Given the description of an element on the screen output the (x, y) to click on. 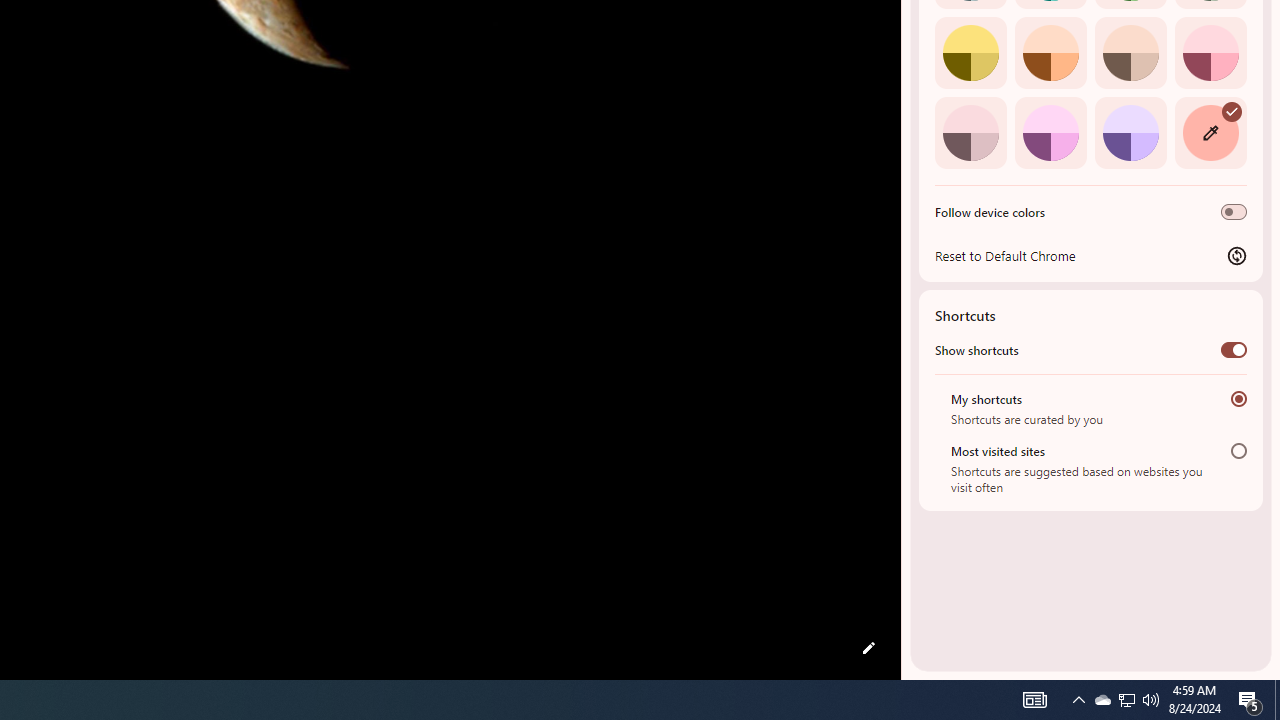
Side Panel Resize Handle (905, 39)
AutomationID: svg (1231, 110)
